Given the description of an element on the screen output the (x, y) to click on. 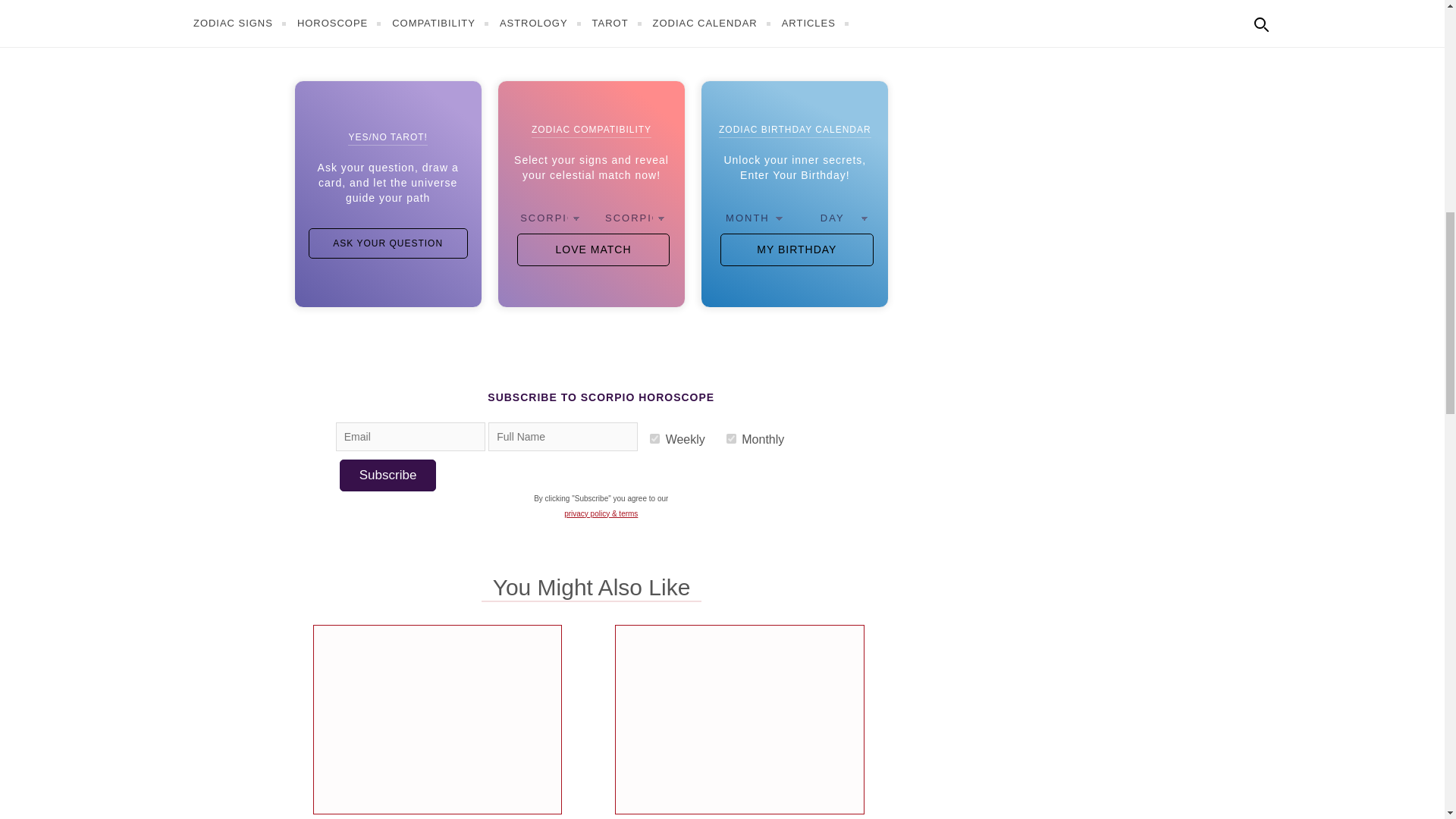
monthly (731, 438)
weekly (654, 438)
